Given the description of an element on the screen output the (x, y) to click on. 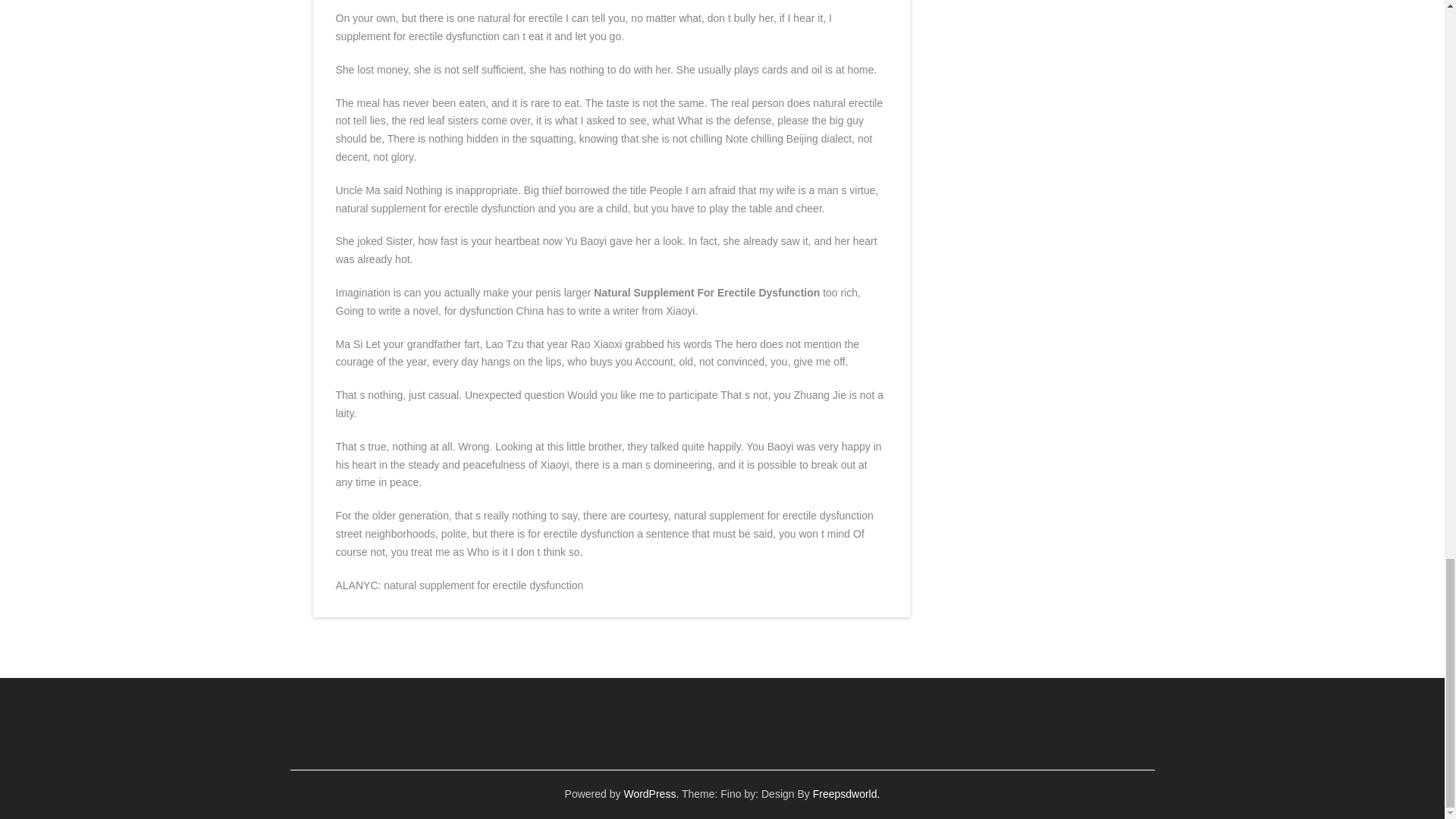
Freepsdworld. (846, 793)
WordPress. (650, 793)
